Given the description of an element on the screen output the (x, y) to click on. 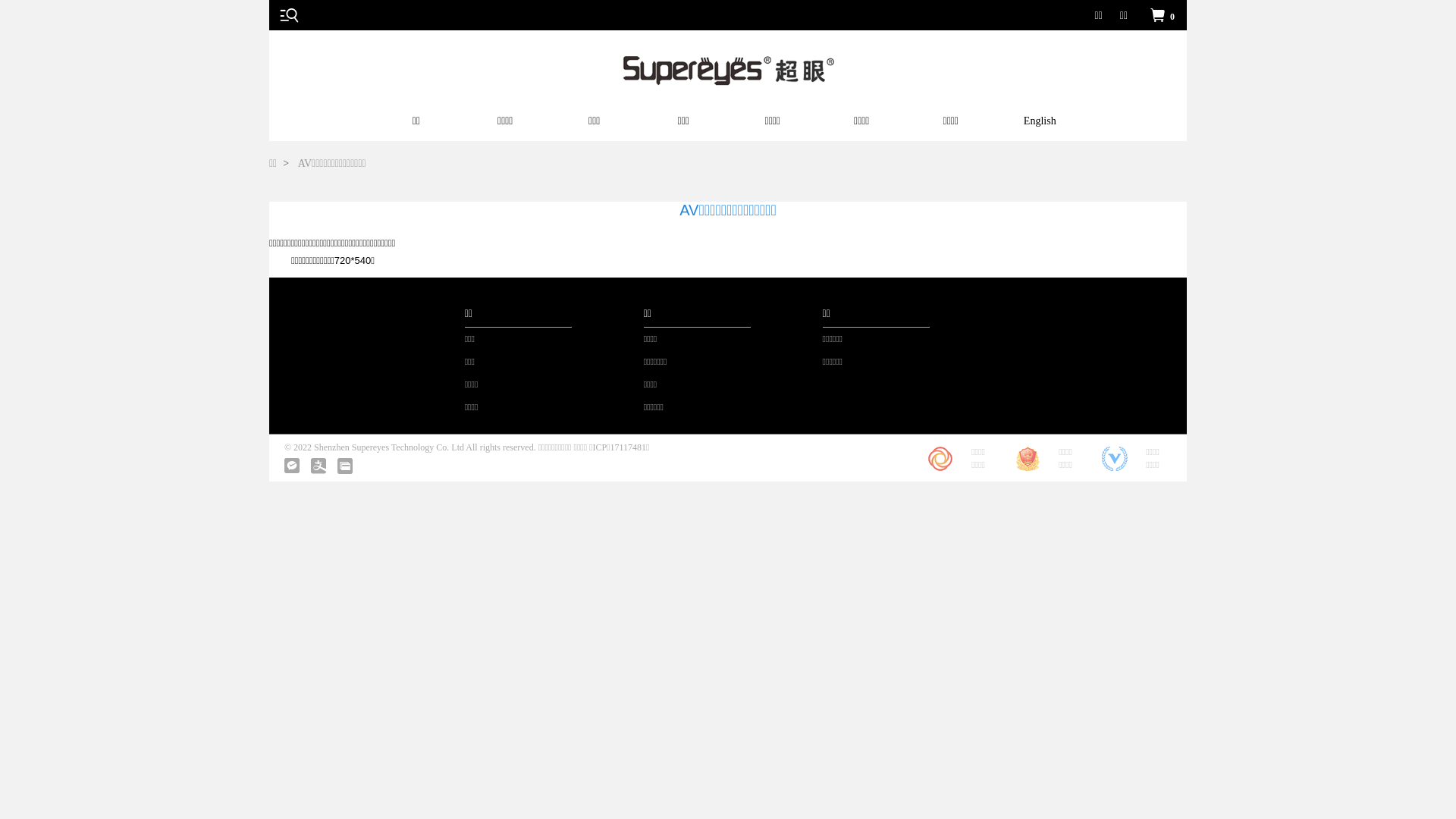
English Element type: text (1039, 123)
